Given the description of an element on the screen output the (x, y) to click on. 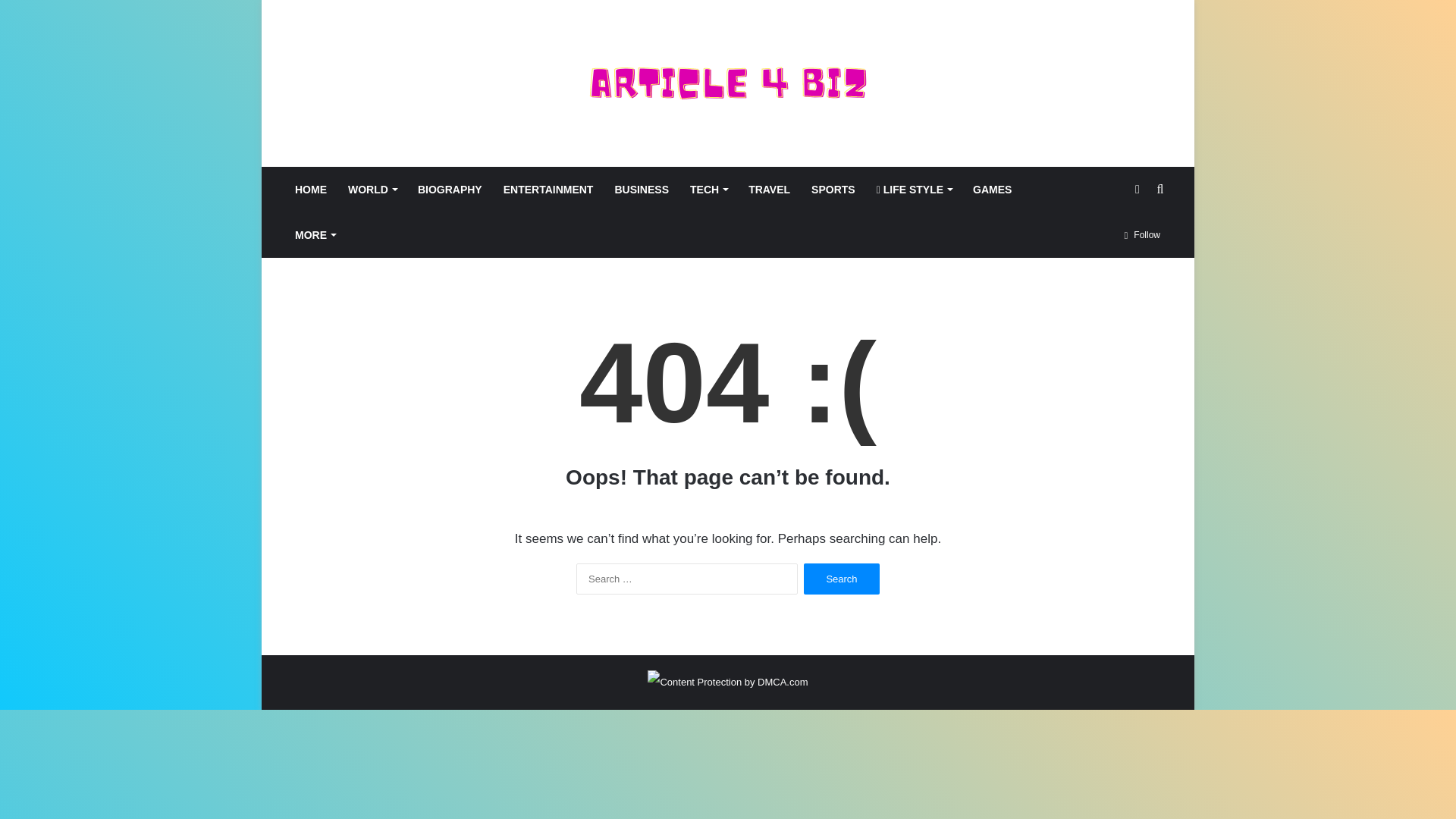
WORLD (372, 189)
Search (841, 578)
Content Protection by DMCA.com (727, 681)
BIOGRAPHY (450, 189)
SPORTS (833, 189)
LIFE STYLE (914, 189)
HOME (310, 189)
Follow (1142, 234)
ENTERTAINMENT (548, 189)
TRAVEL (769, 189)
